Given the description of an element on the screen output the (x, y) to click on. 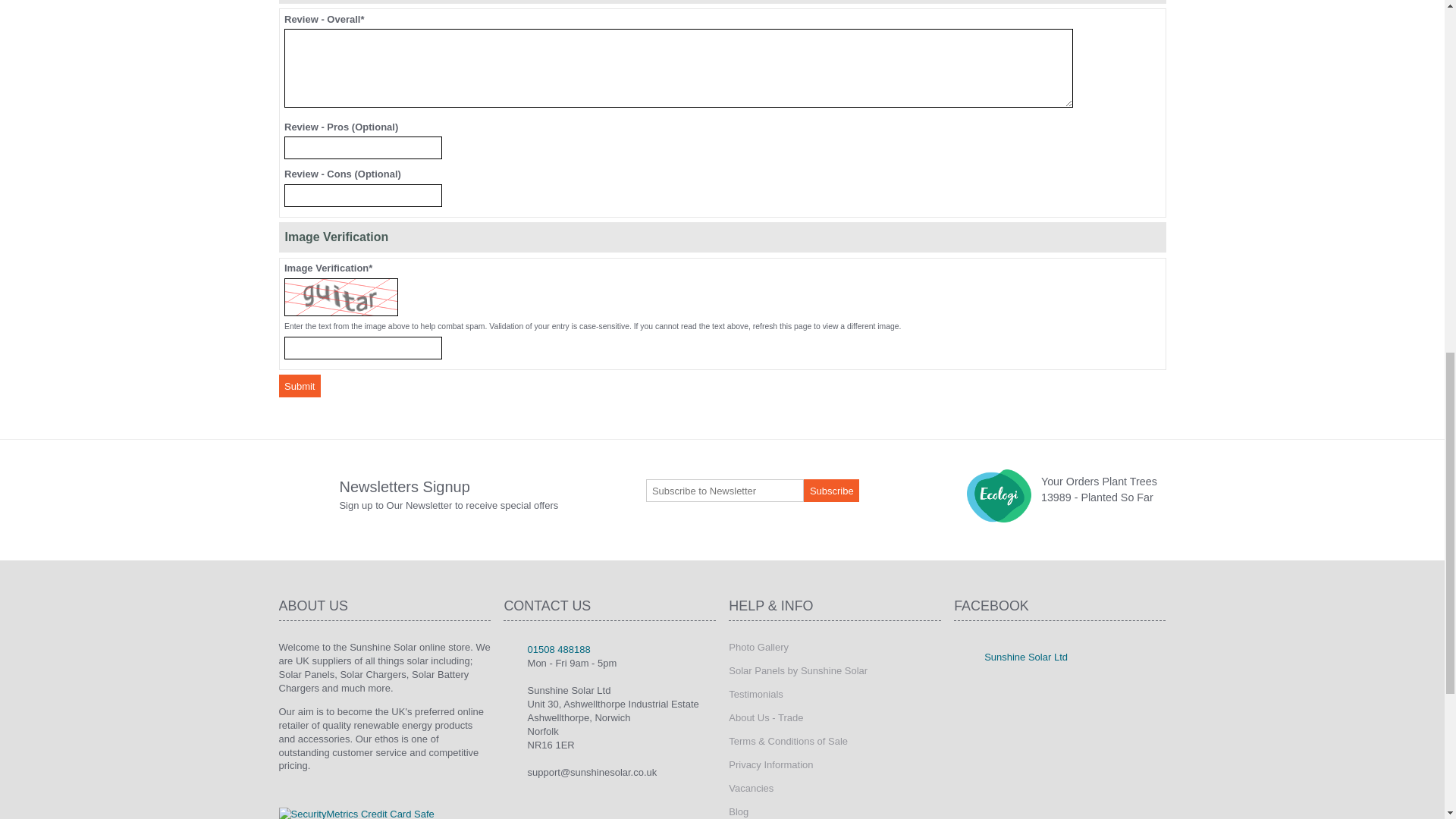
Review - Overall (678, 67)
Subscribe (831, 490)
Submit (299, 385)
Submit (299, 385)
Image Verification (362, 347)
